Given the description of an element on the screen output the (x, y) to click on. 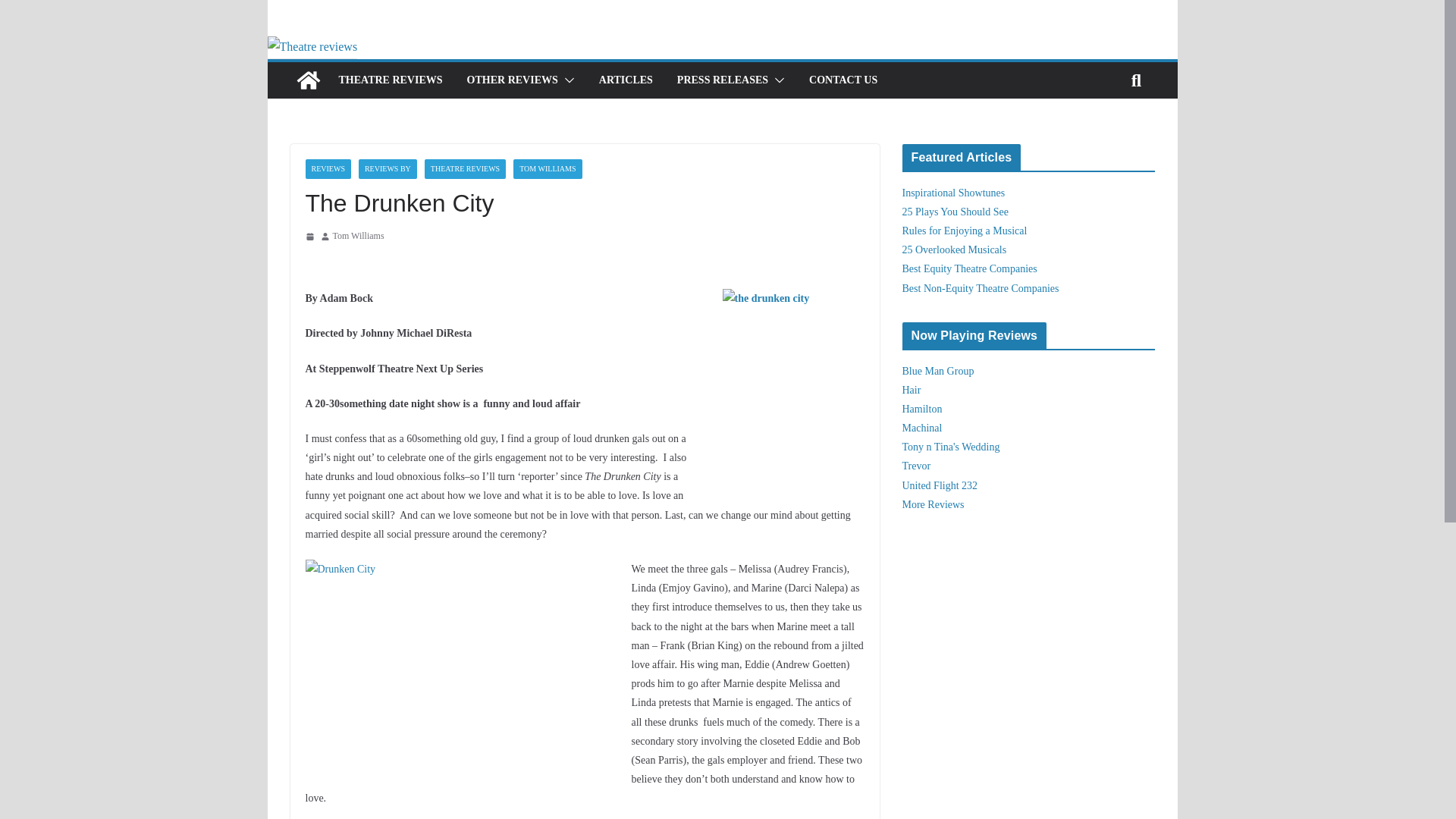
Best Equity Theatre Companies (969, 268)
Rules for Enjoying a Musical (964, 230)
Theatre reviews (307, 80)
PRESS RELEASES (722, 79)
CONTACT US (843, 79)
Theatre reviews (311, 46)
Rules for Enjoying a Musical (964, 230)
REVIEWS (327, 168)
Hair (911, 389)
Tom Williams (357, 236)
